Given the description of an element on the screen output the (x, y) to click on. 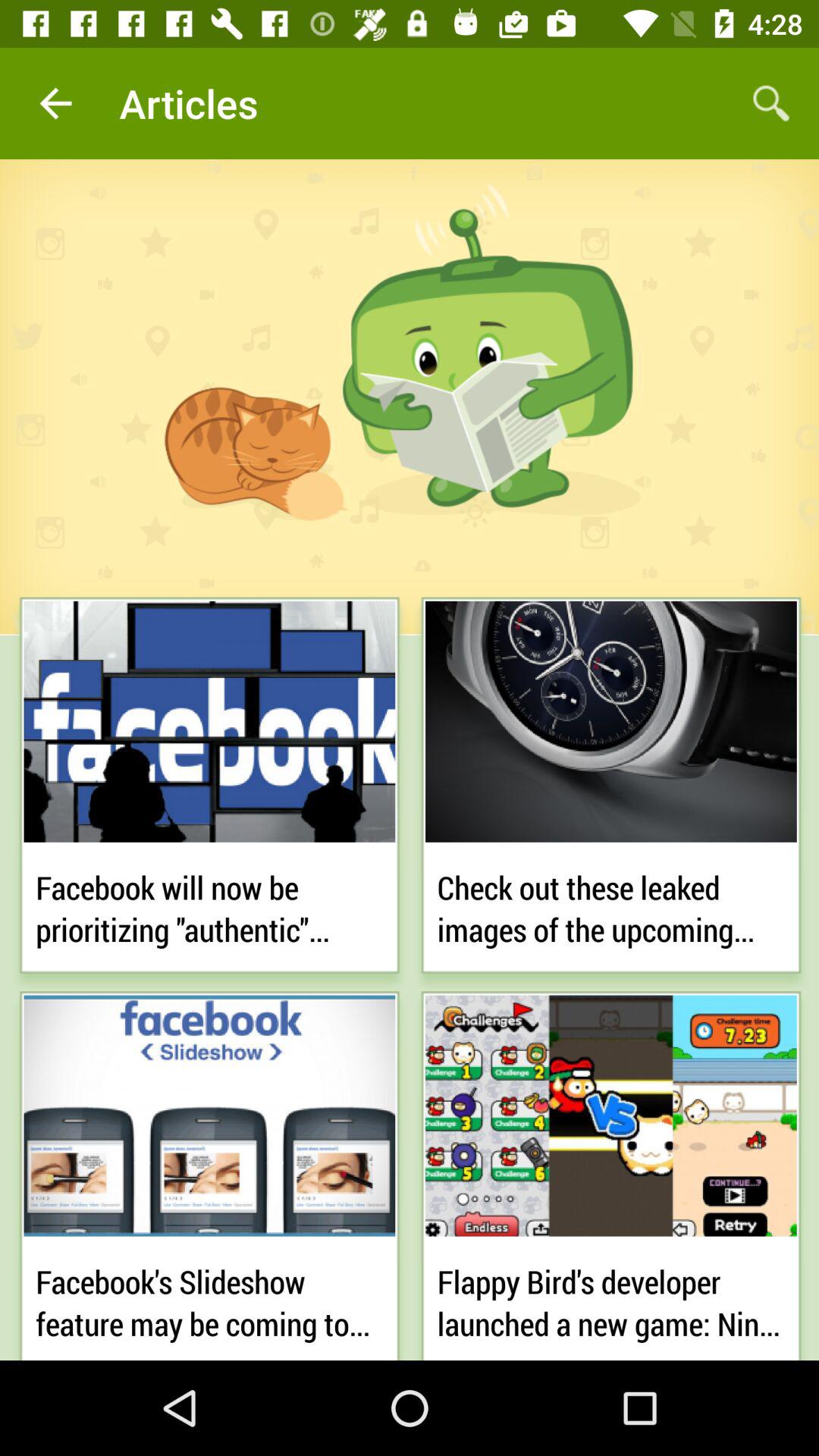
click flappy bird s item (610, 1298)
